Given the description of an element on the screen output the (x, y) to click on. 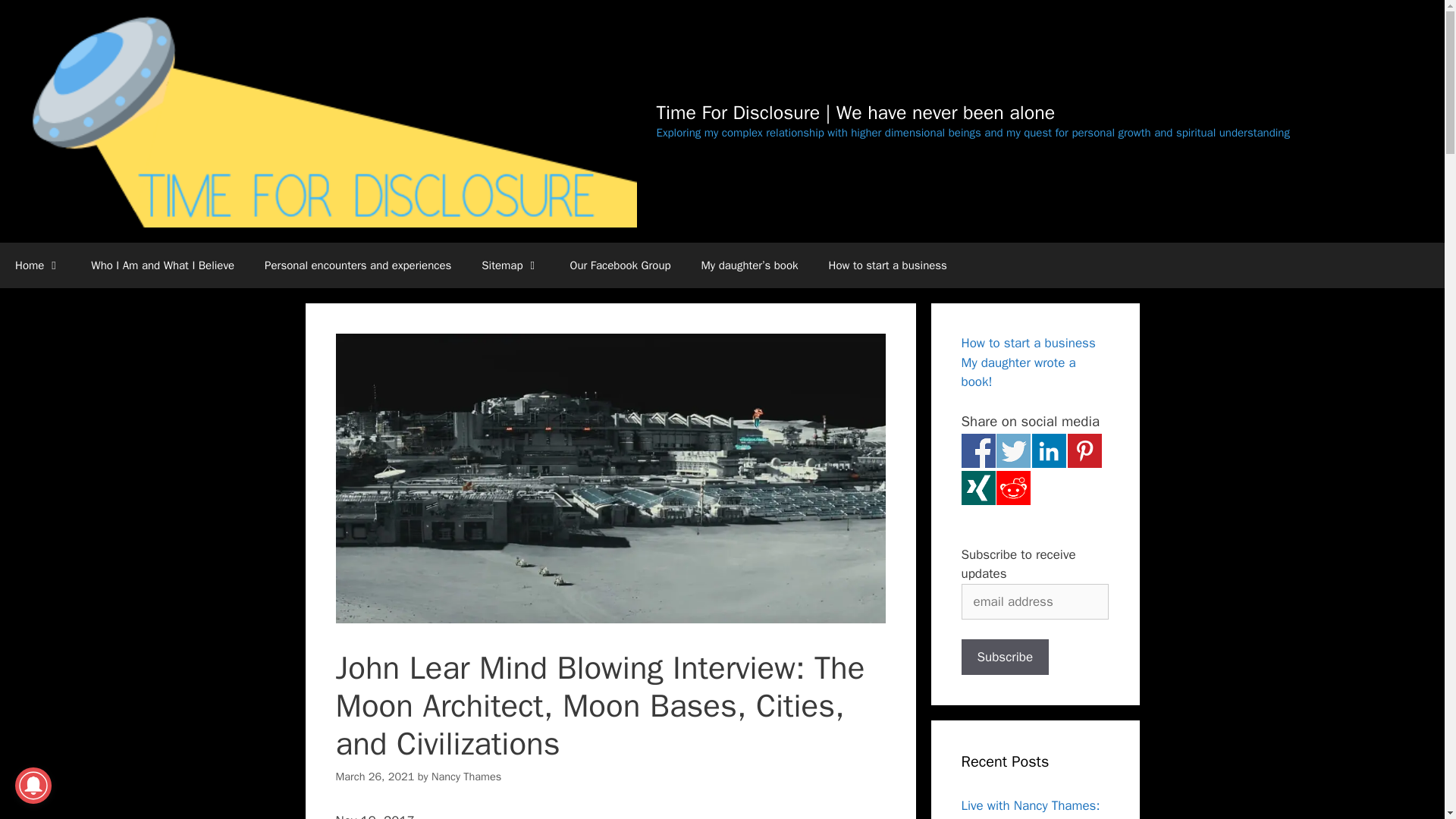
Nancy Thames (465, 775)
View all posts by Nancy Thames (465, 775)
Subscribe (1004, 657)
Sitemap (509, 265)
Our Facebook Group (619, 265)
Who I Am and What I Believe (161, 265)
Home (37, 265)
Personal encounters and experiences (356, 265)
How to start a business (887, 265)
